Given the description of an element on the screen output the (x, y) to click on. 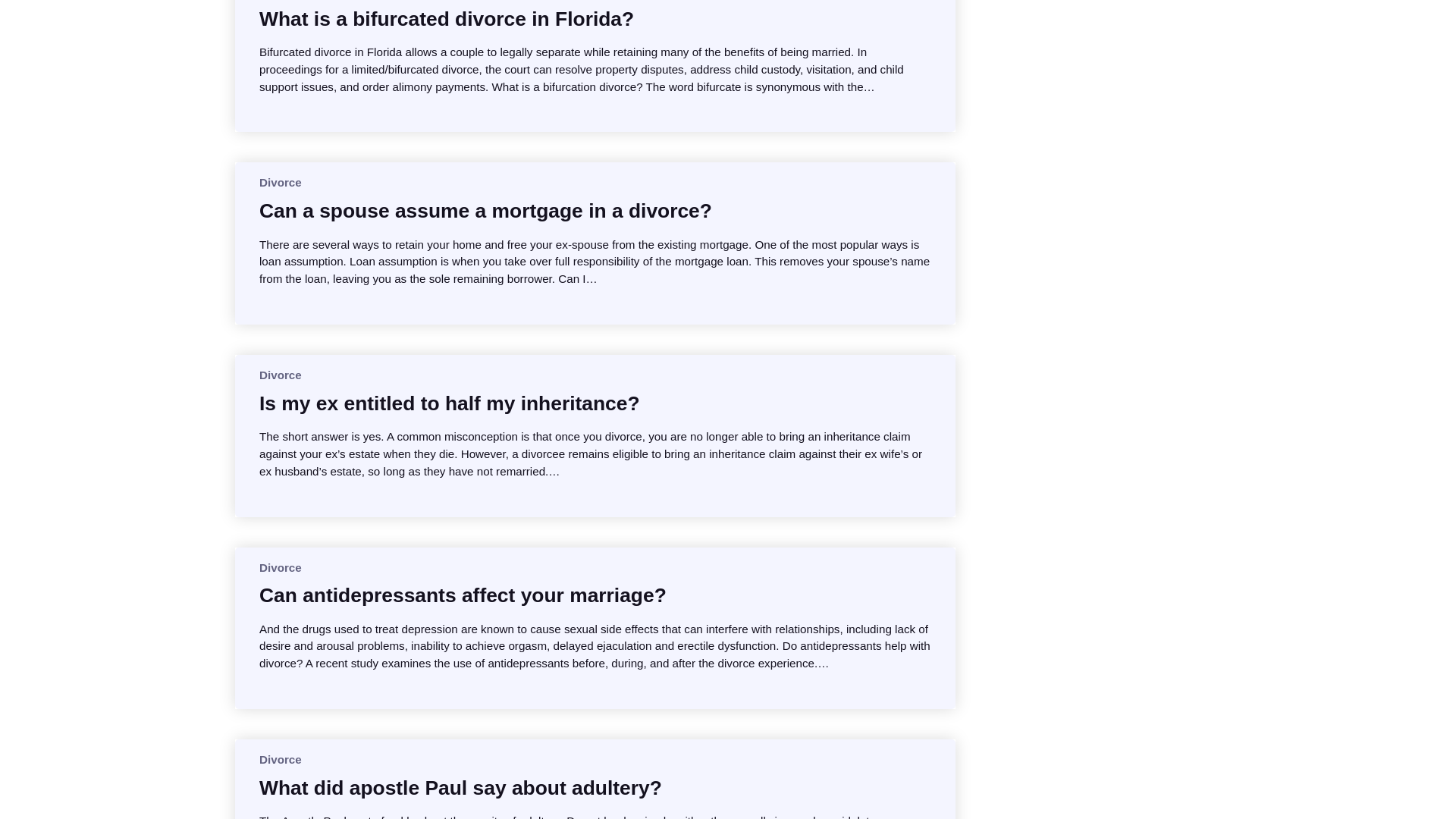
What is a bifurcated divorce in Florida? (446, 18)
Divorce (280, 182)
Can a spouse assume a mortgage in a divorce? (485, 210)
